Given the description of an element on the screen output the (x, y) to click on. 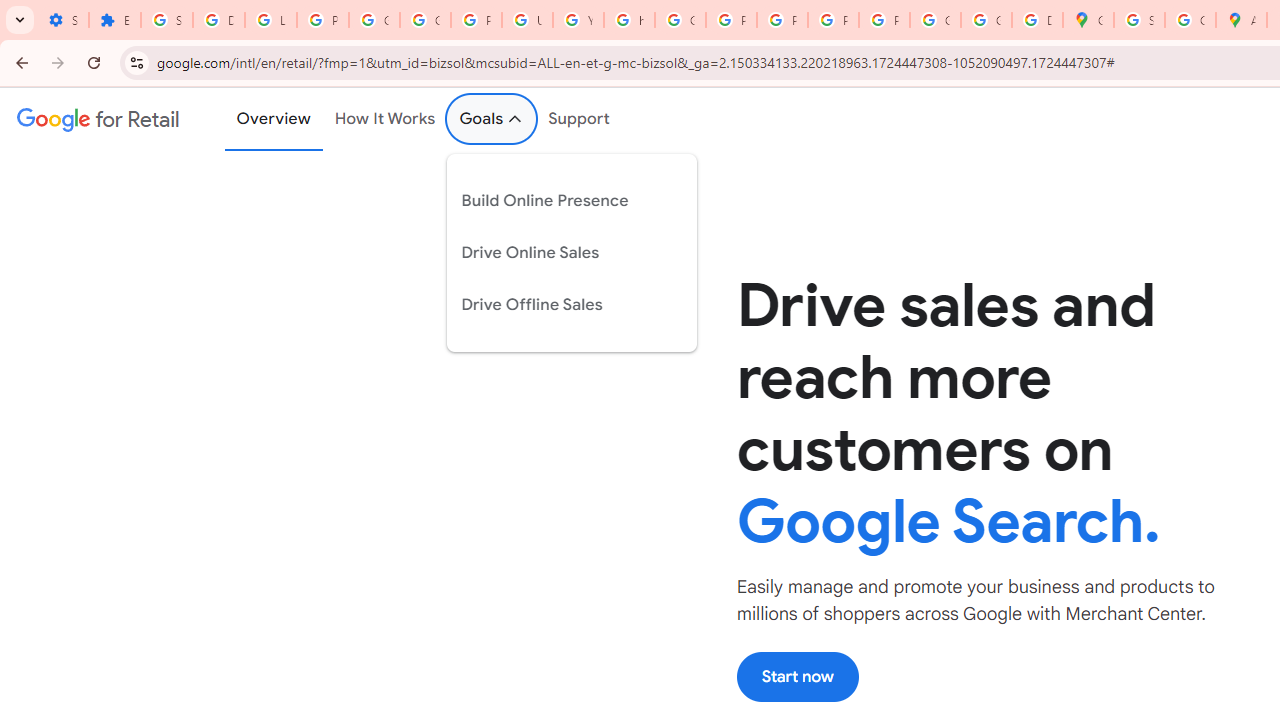
Google Maps (1087, 20)
Google Account Help (374, 20)
Extensions (114, 20)
Privacy Help Center - Policies Help (731, 20)
How It Works (385, 119)
How It Works (385, 119)
Drive Online Sales (556, 252)
